Given the description of an element on the screen output the (x, y) to click on. 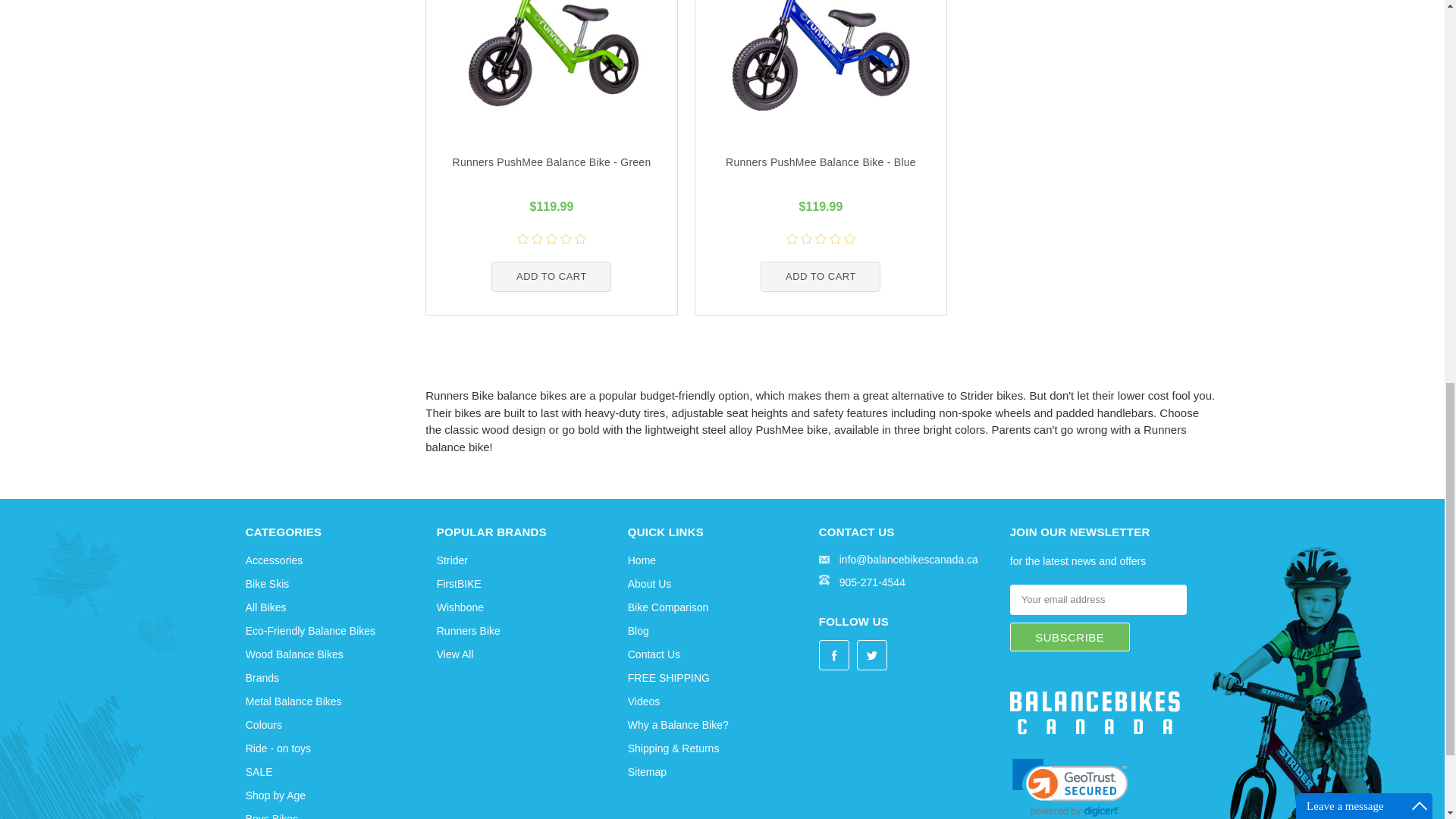
Runners Pushmee Balance bike Blue (821, 55)
Subscribe (1069, 636)
Runners PushMee Balance Bike Green (552, 55)
